Given the description of an element on the screen output the (x, y) to click on. 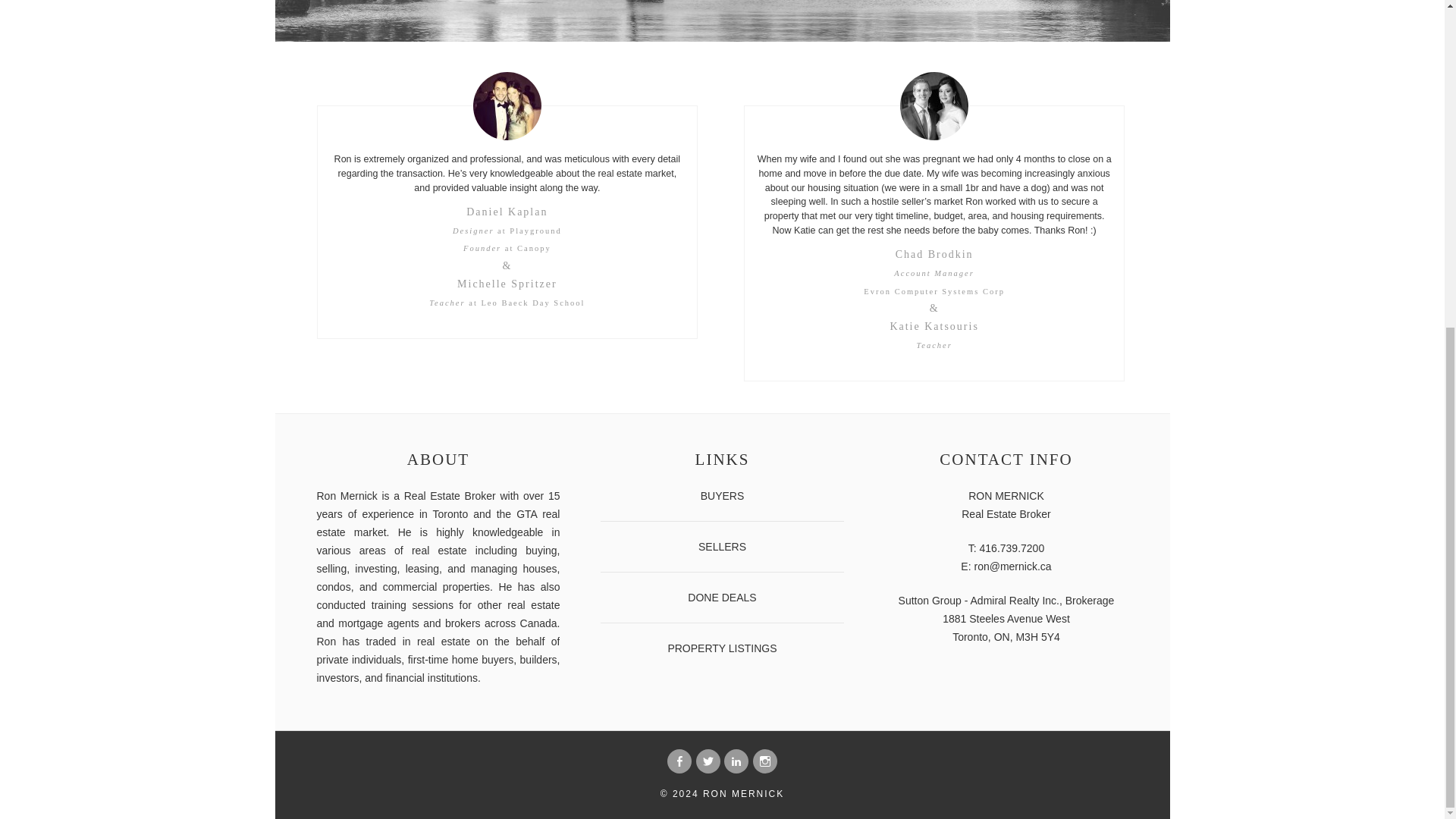
LINKEDIN (735, 761)
SELLERS (721, 546)
TWITTER (707, 761)
FACEBOOK (678, 761)
INSTAGRAM (764, 761)
PROPERTY LISTINGS (721, 648)
BUYERS (722, 495)
DONE DEALS (721, 597)
